Given the description of an element on the screen output the (x, y) to click on. 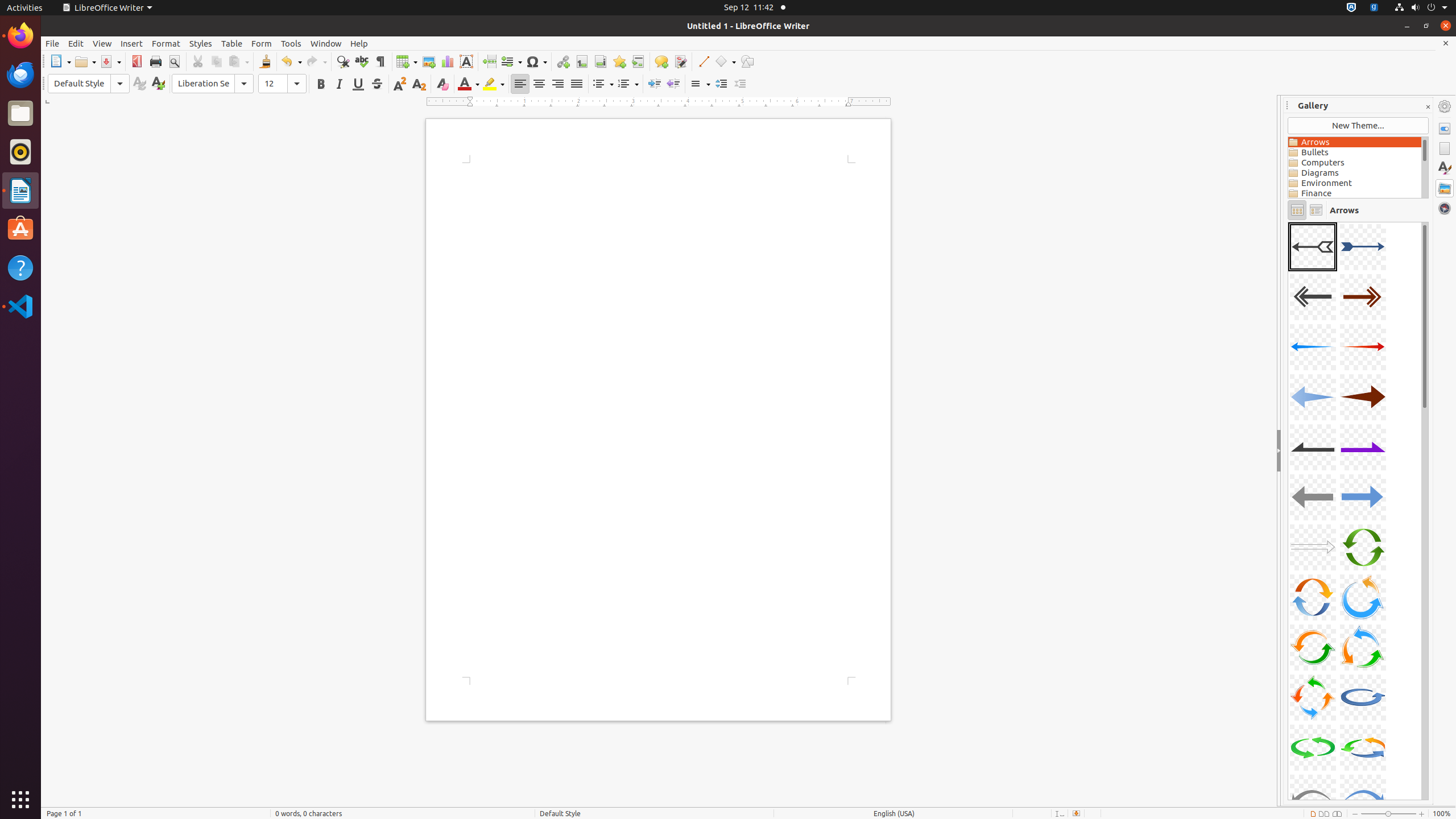
Window Element type: menu (325, 43)
A17-CircleArrow Element type: list-item (1312, 646)
Strikethrough Element type: toggle-button (376, 83)
Help Element type: menu (358, 43)
Page Break Element type: push-button (489, 61)
